Given the description of an element on the screen output the (x, y) to click on. 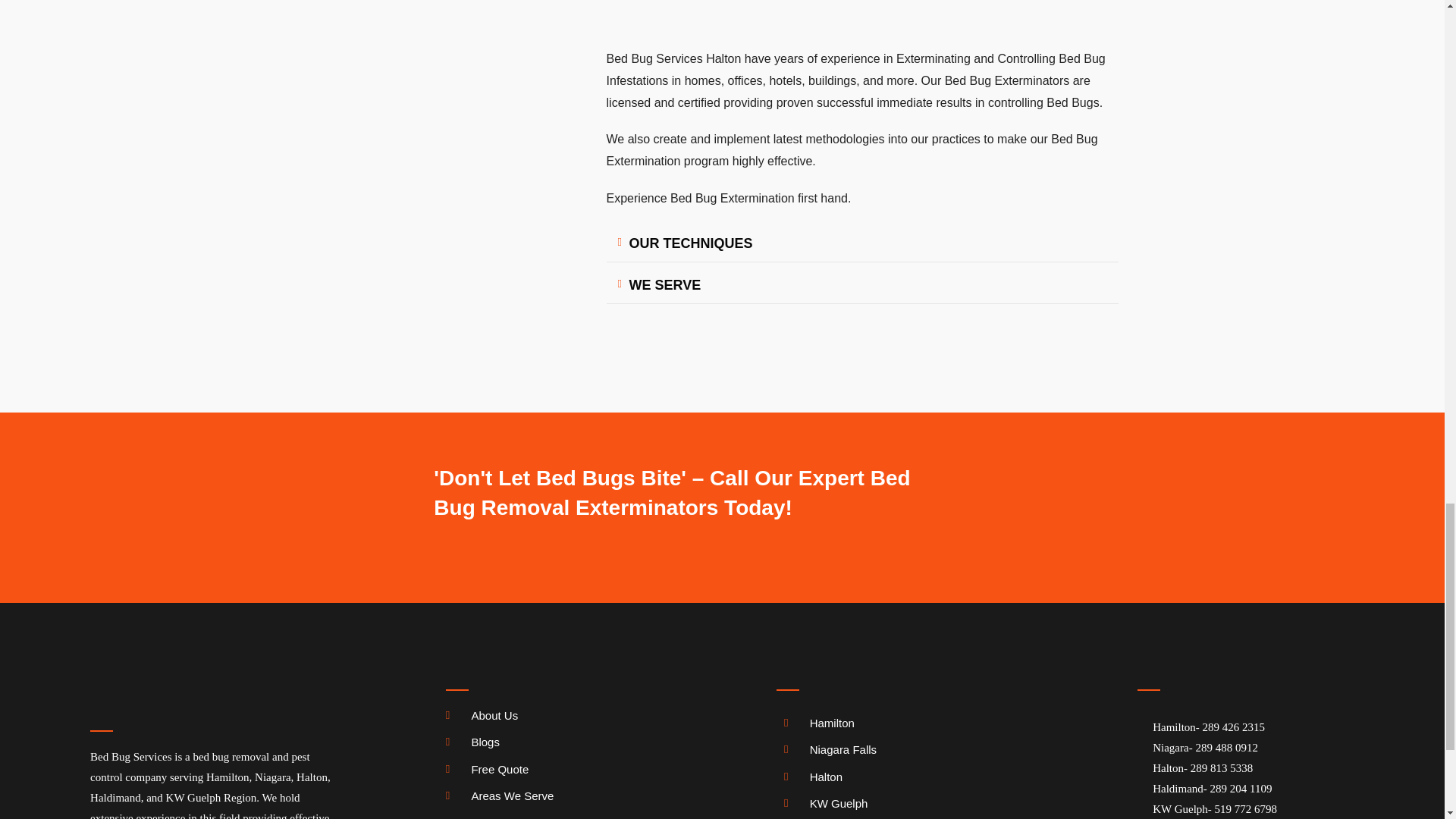
About Us (556, 715)
Free Quote (556, 769)
WE SERVE (664, 284)
OUR TECHNIQUES (690, 242)
Blogs (556, 742)
